Given the description of an element on the screen output the (x, y) to click on. 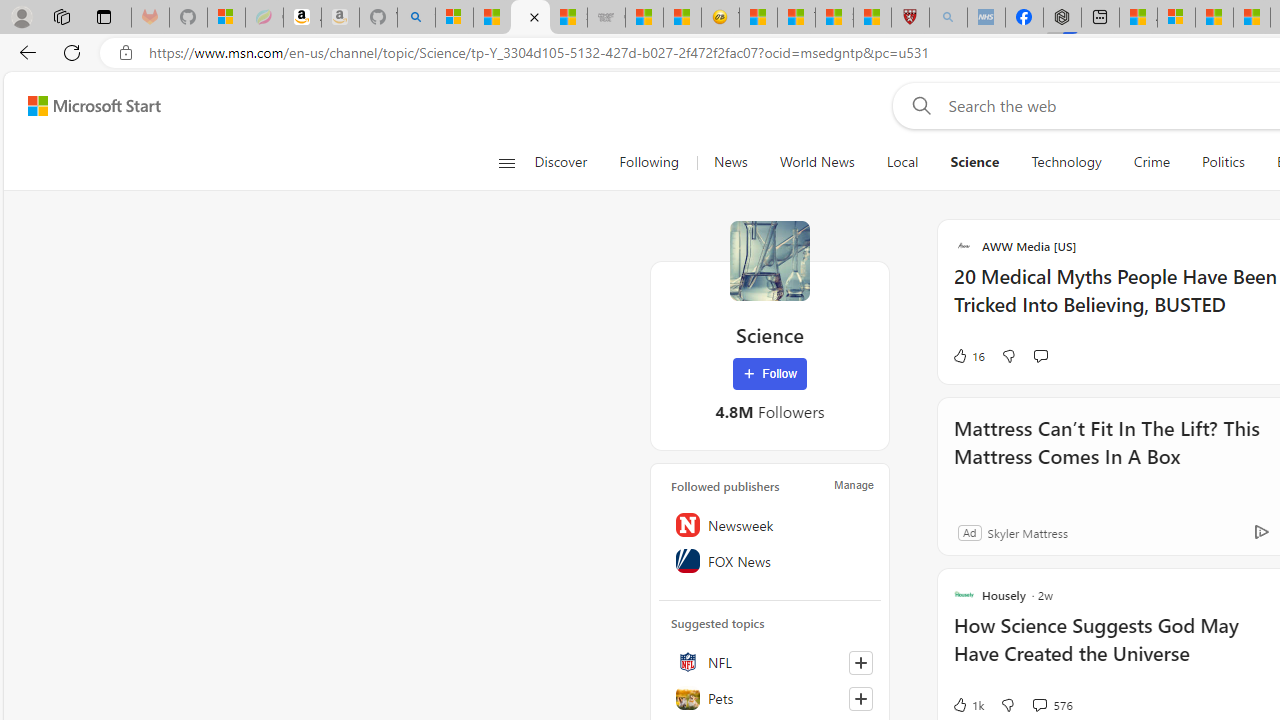
View comments 576 Comment (1051, 704)
1k Like (967, 704)
How Science Suggests God May Have Created the Universe (1115, 650)
